Given the description of an element on the screen output the (x, y) to click on. 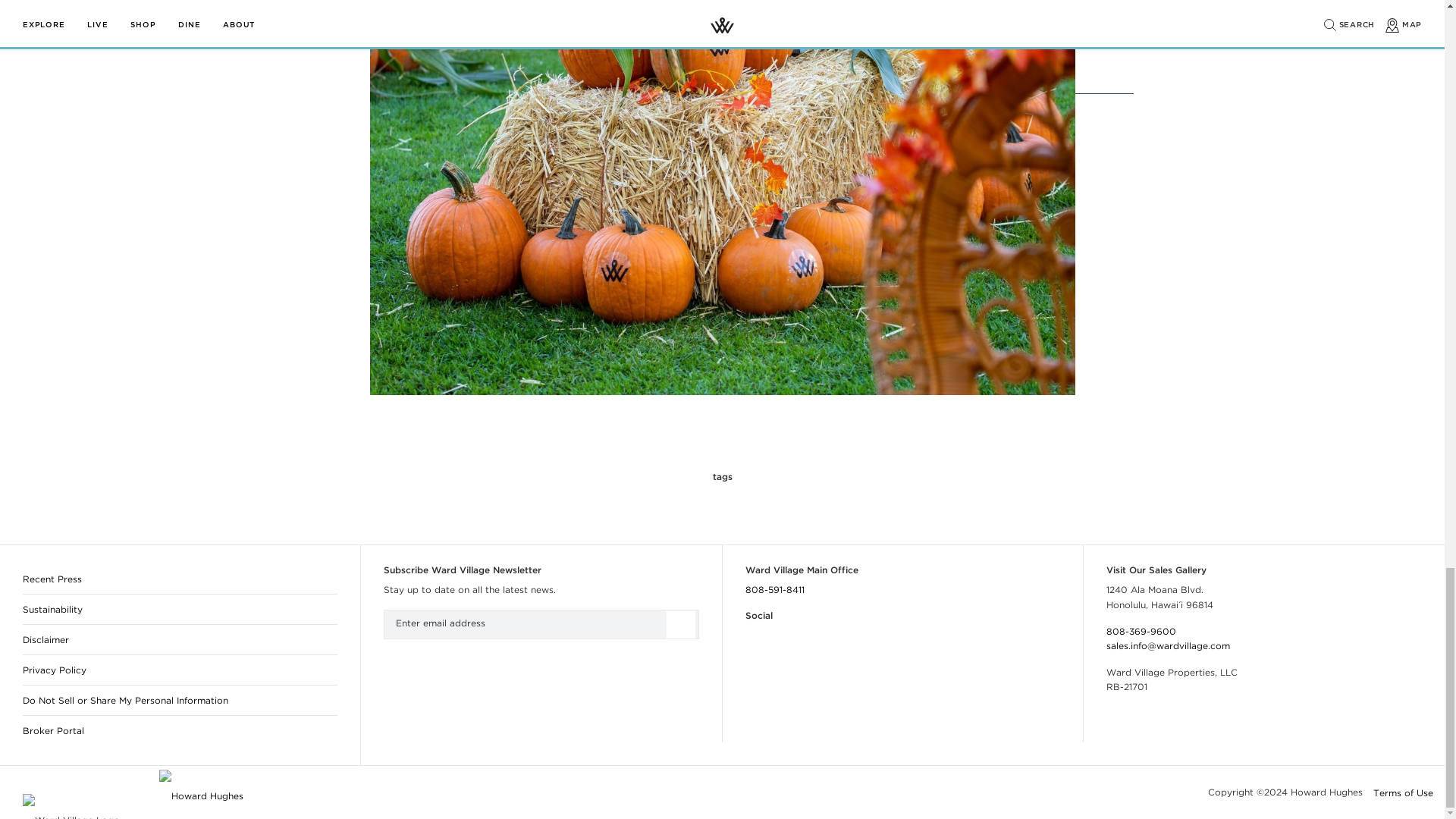
Subscribe (679, 624)
